Given the description of an element on the screen output the (x, y) to click on. 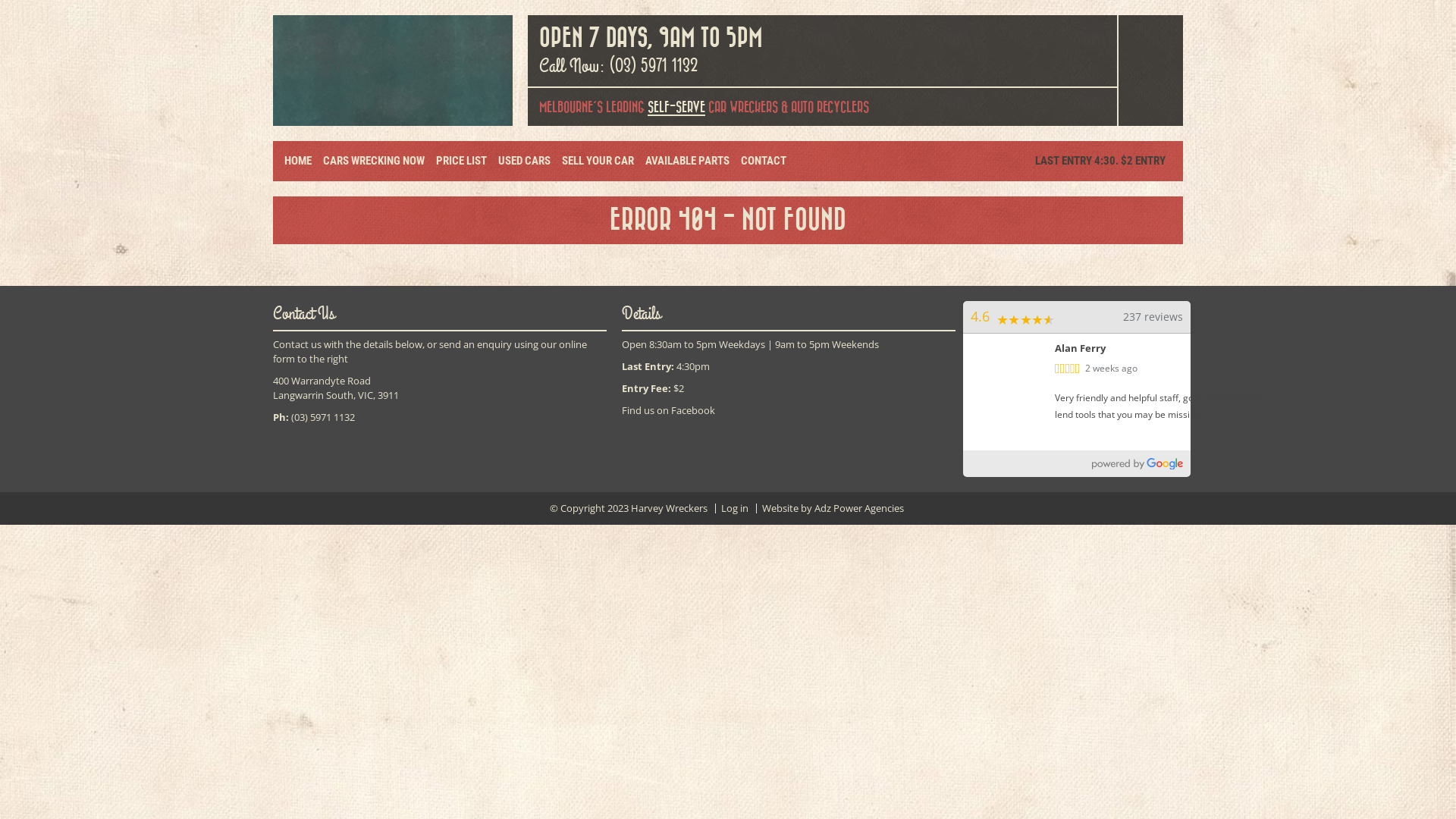
(03) 5971 1132 Element type: text (653, 65)
PRICE LIST Element type: text (461, 161)
SELF-SERVE CAR WRECKERS Element type: text (712, 108)
237 reviews Element type: text (1153, 316)
AVAILABLE PARTS Element type: text (687, 161)
CONTACT Element type: text (763, 161)
Find us on Facebook Element type: text (668, 410)
SELL YOUR CAR Element type: text (597, 161)
Alan Ferry Element type: text (1146, 348)
HOME Element type: text (297, 161)
(03) 5971 1132 Element type: text (322, 416)
CARS WRECKING NOW Element type: text (373, 161)
Powered by Google Element type: hover (1137, 463)
Log in Element type: text (734, 507)
Website by Adz Power Agencies Element type: text (832, 507)
USED CARS Element type: text (524, 161)
